Given the description of an element on the screen output the (x, y) to click on. 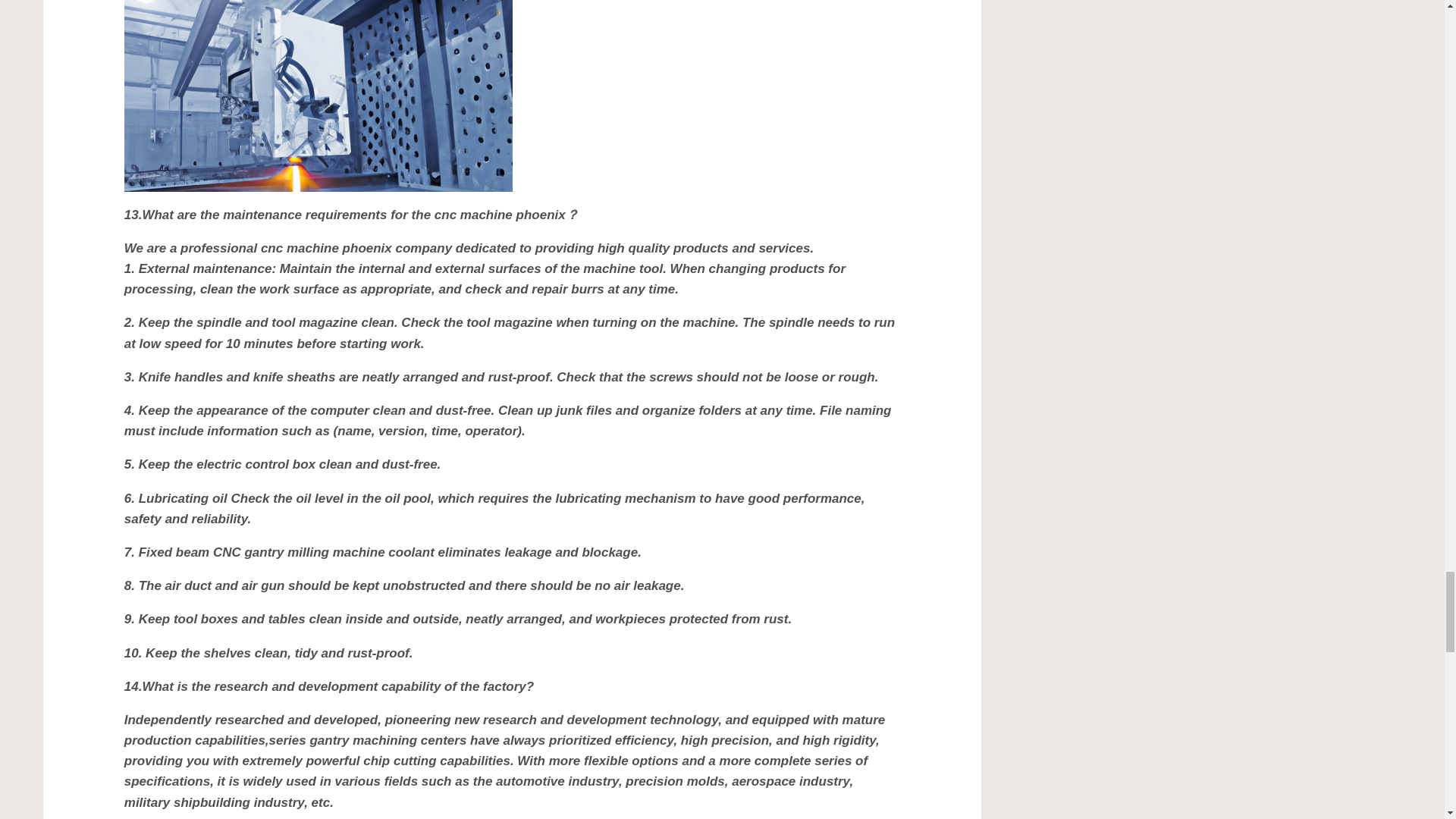
About cnc machine phoenix,Do you have any certificates? (317, 95)
